Given the description of an element on the screen output the (x, y) to click on. 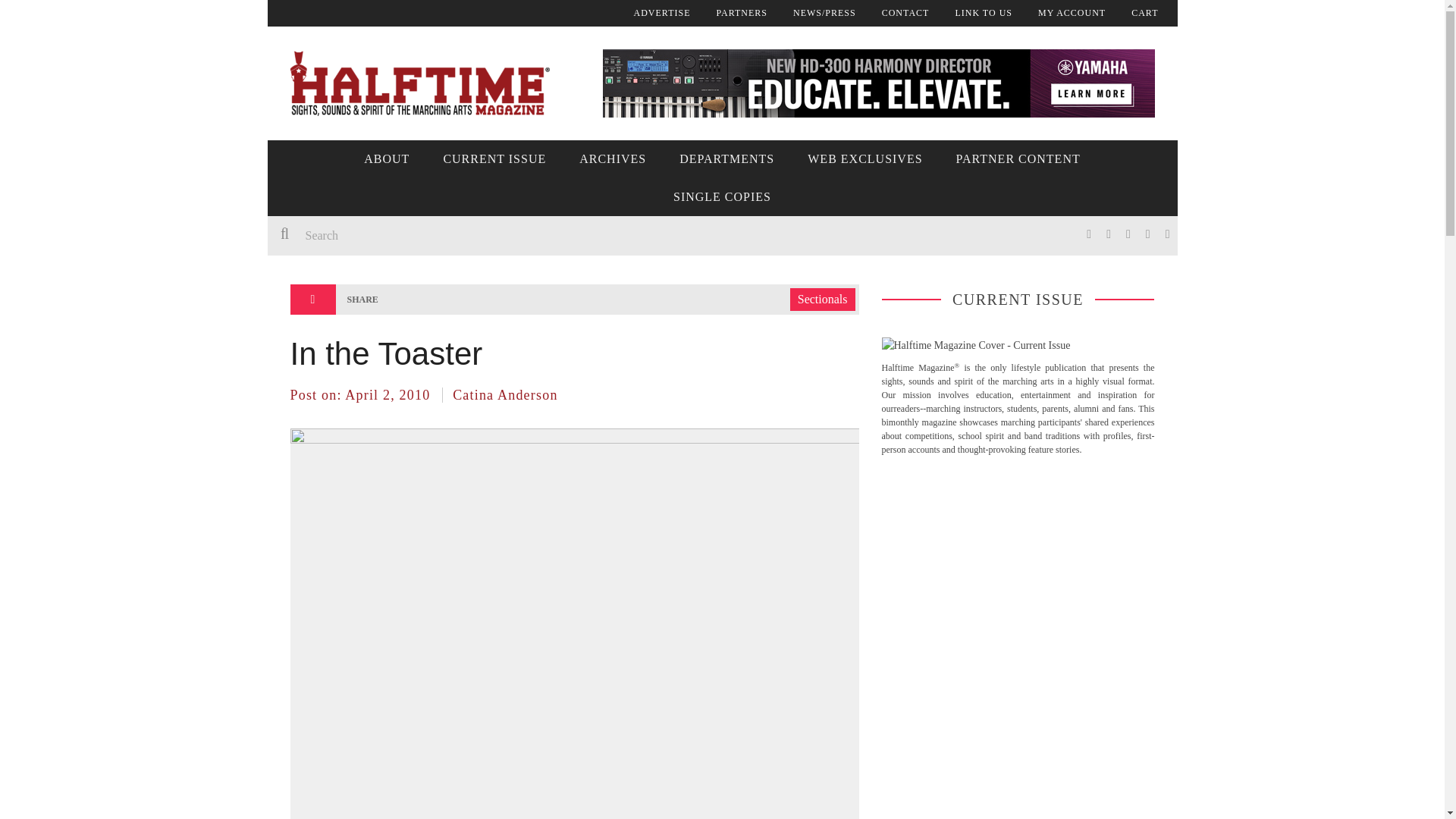
Posts by Catina Anderson (504, 394)
Search (494, 235)
